Given the description of an element on the screen output the (x, y) to click on. 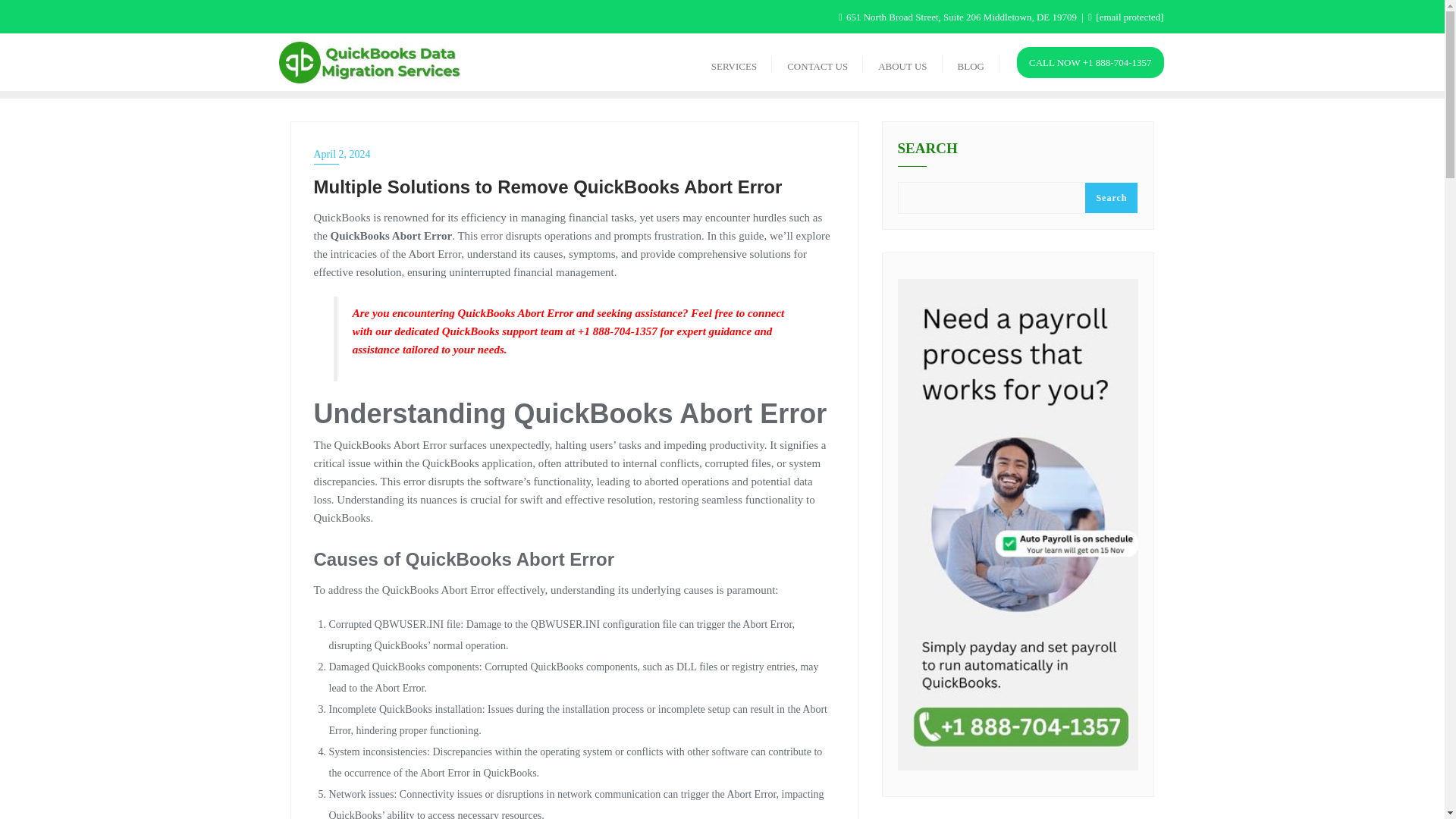
BLOG (970, 61)
SERVICES (733, 61)
Search (1110, 197)
CONTACT US (817, 61)
ABOUT US (902, 61)
April 2, 2024 (574, 153)
